Given the description of an element on the screen output the (x, y) to click on. 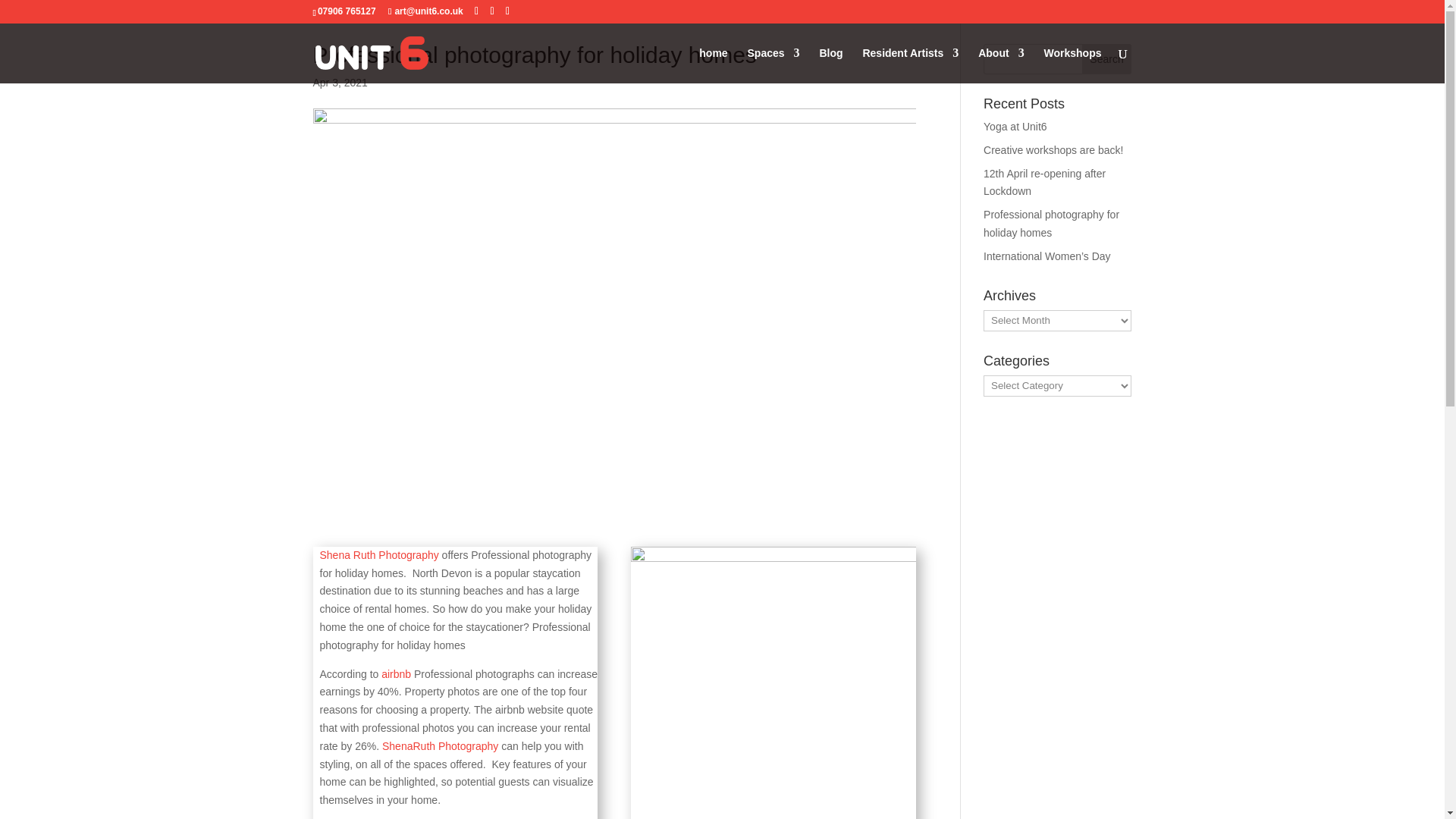
Search (1106, 59)
ShenaRuth Photography (439, 746)
Resident Artists (909, 65)
Shena Ruth Photography (379, 554)
Spaces (773, 65)
Product Photography (439, 746)
airbnb (395, 674)
Workshops (1072, 65)
Shena Ruth Photography (379, 554)
About (1000, 65)
